Given the description of an element on the screen output the (x, y) to click on. 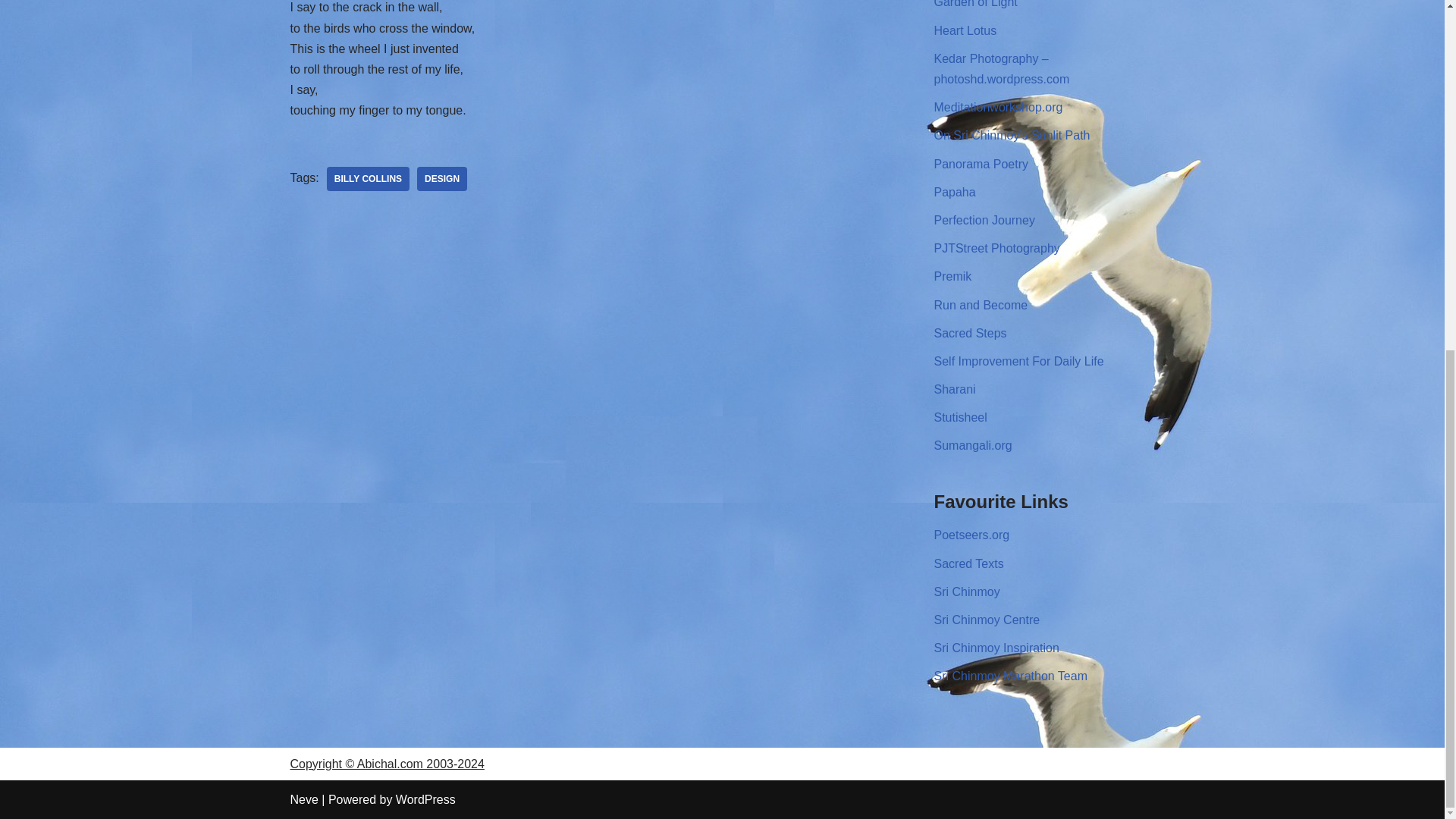
Perfection Journey (984, 219)
Chain of gift shops in Ottawa, Canada (975, 4)
Kedars photos (1002, 68)
Meditationworkshop.org (998, 106)
PJTStreet Photography (996, 247)
Self Improvement For Daily Life (1018, 360)
Design (441, 178)
Sacred Steps (970, 332)
Billy Collins (367, 178)
BILLY COLLINS (367, 178)
Papaha (954, 192)
Heart Lotus (965, 30)
Garden of Light (975, 4)
DESIGN (441, 178)
Premik (953, 276)
